Given the description of an element on the screen output the (x, y) to click on. 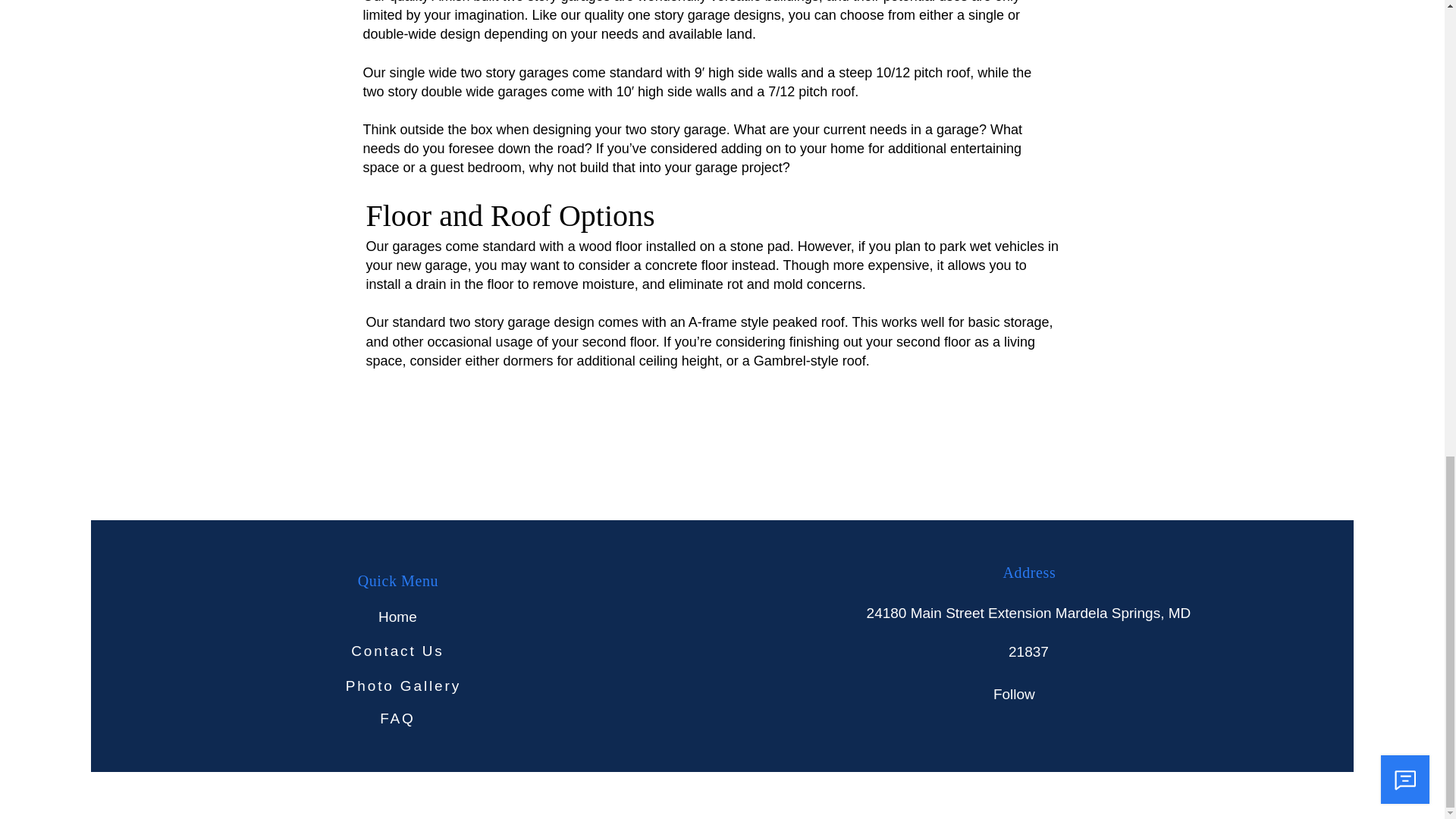
Photo Gallery (403, 685)
FAQ (397, 718)
Contact Us (397, 651)
Home (397, 616)
